Given the description of an element on the screen output the (x, y) to click on. 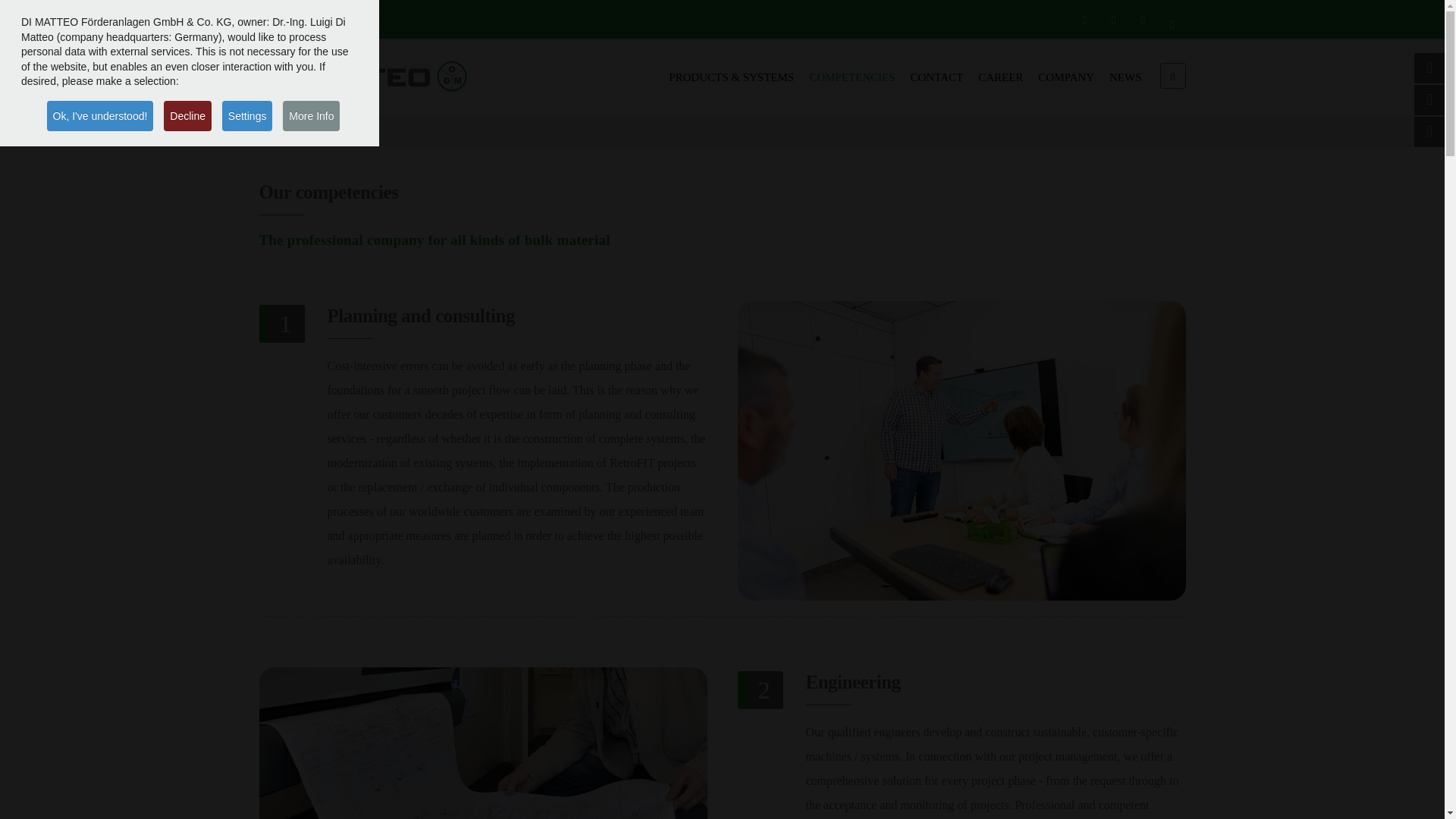
Di Matteo - Google Maps (1171, 24)
Di Matteo - Linkedin (1113, 19)
English (290, 19)
Di Matteo - Xing (1142, 19)
Di Matteo - Facebook (1084, 19)
